Given the description of an element on the screen output the (x, y) to click on. 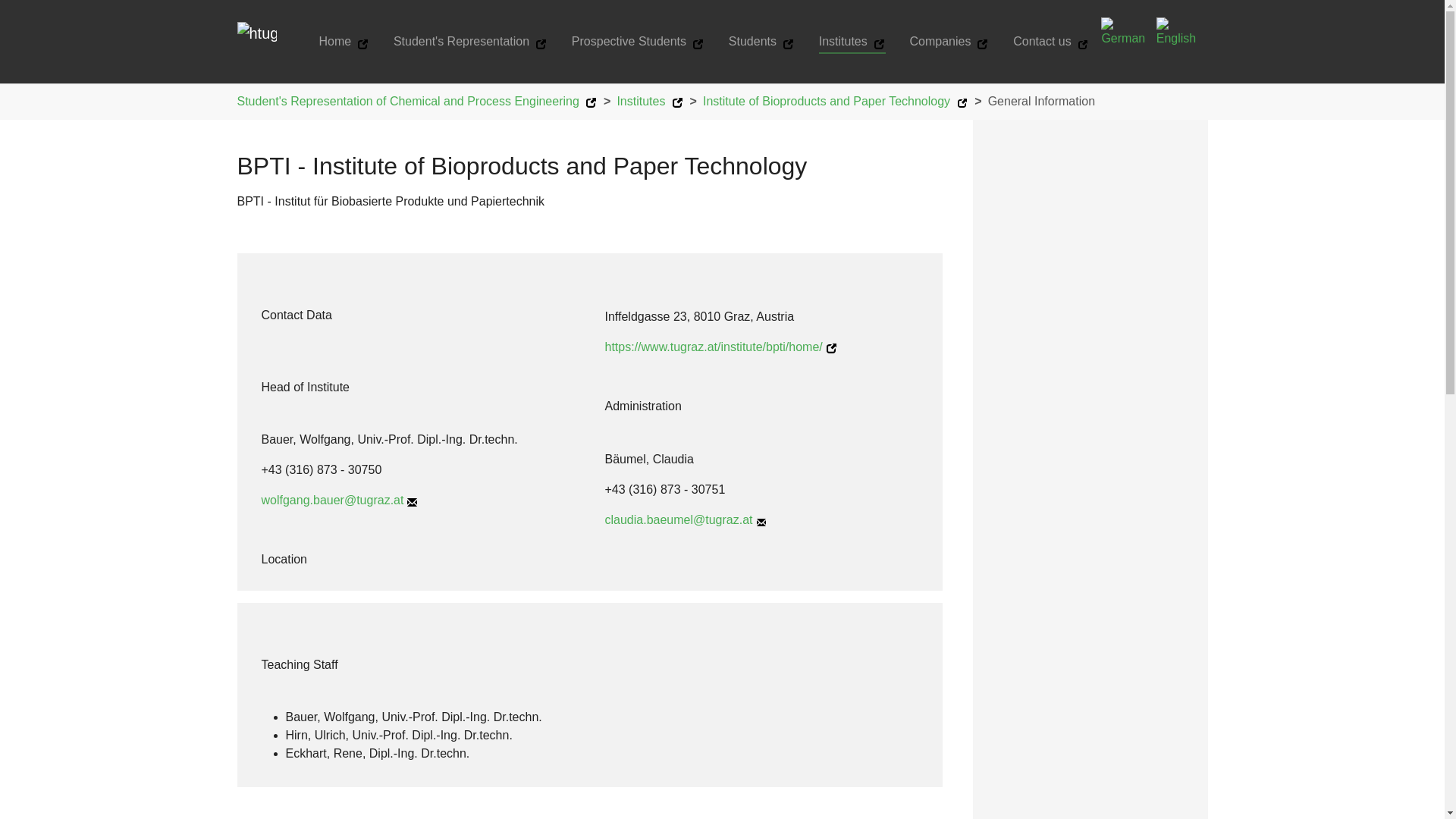
Student's Representation (470, 41)
Home (342, 41)
Students (761, 41)
Students (761, 41)
Prospective Students (637, 41)
Home (342, 41)
Prospective Students (637, 41)
Student's Representation (470, 41)
Institutes (852, 41)
Companies (949, 41)
